Given the description of an element on the screen output the (x, y) to click on. 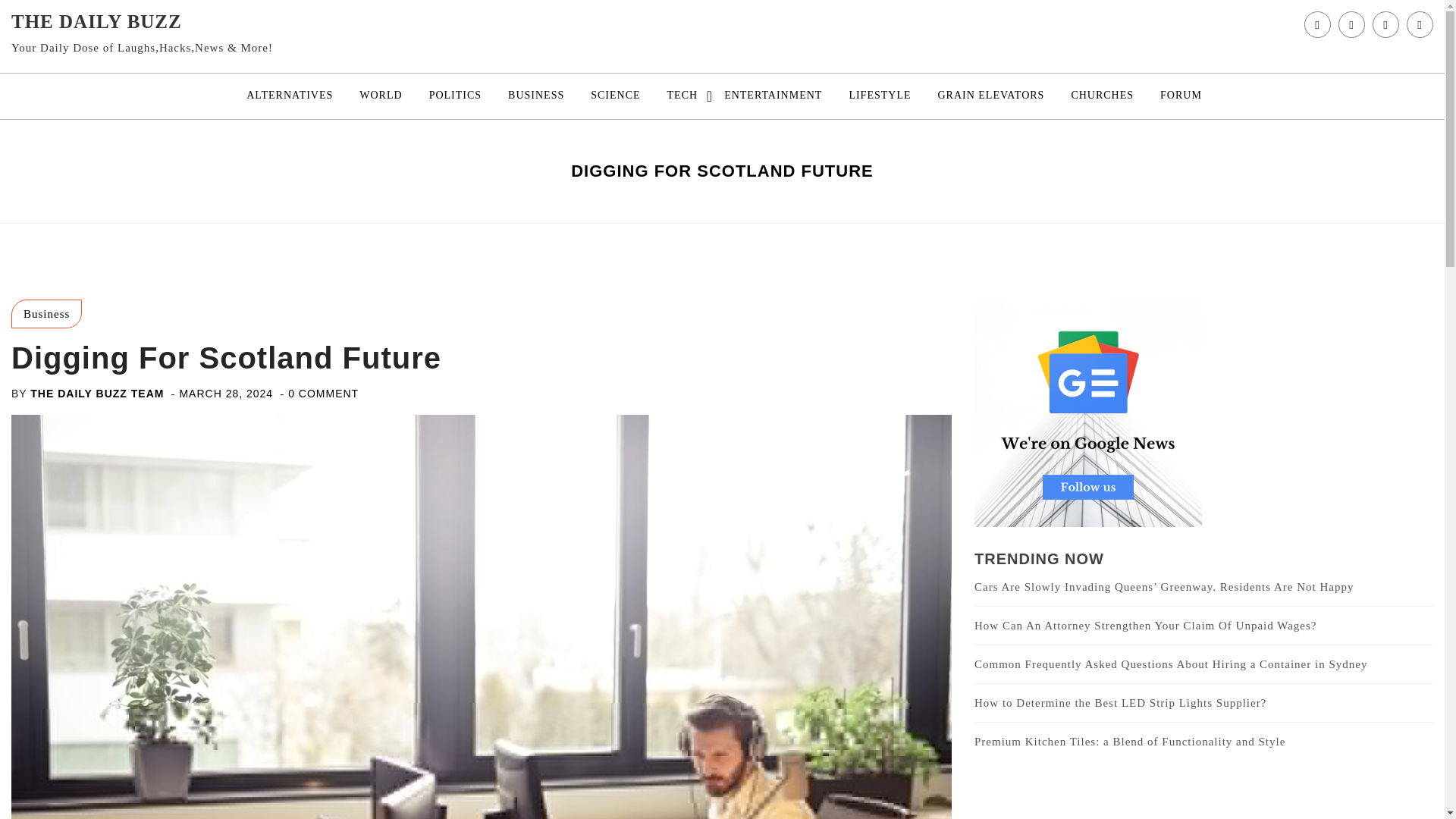
ALTERNATIVES (288, 95)
SCIENCE (614, 95)
THE DAILY BUZZ TEAM (96, 393)
TECH (683, 95)
GRAIN ELEVATORS (990, 95)
BUSINESS (535, 95)
CHURCHES (1101, 95)
ENTERTAINMENT (772, 95)
MARCH 28, 2024 (226, 393)
